Given the description of an element on the screen output the (x, y) to click on. 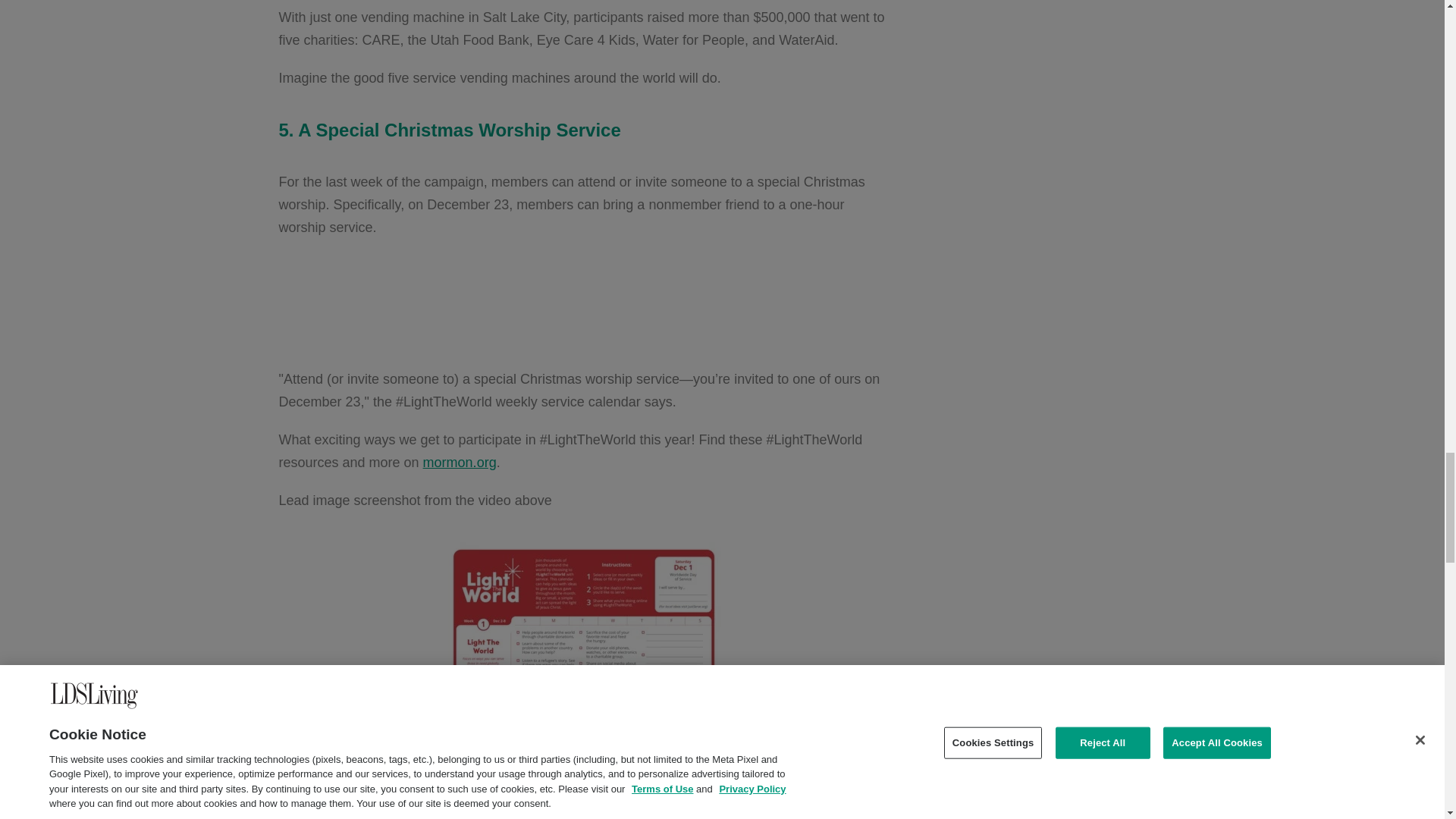
3rd party ad content (582, 303)
